Given the description of an element on the screen output the (x, y) to click on. 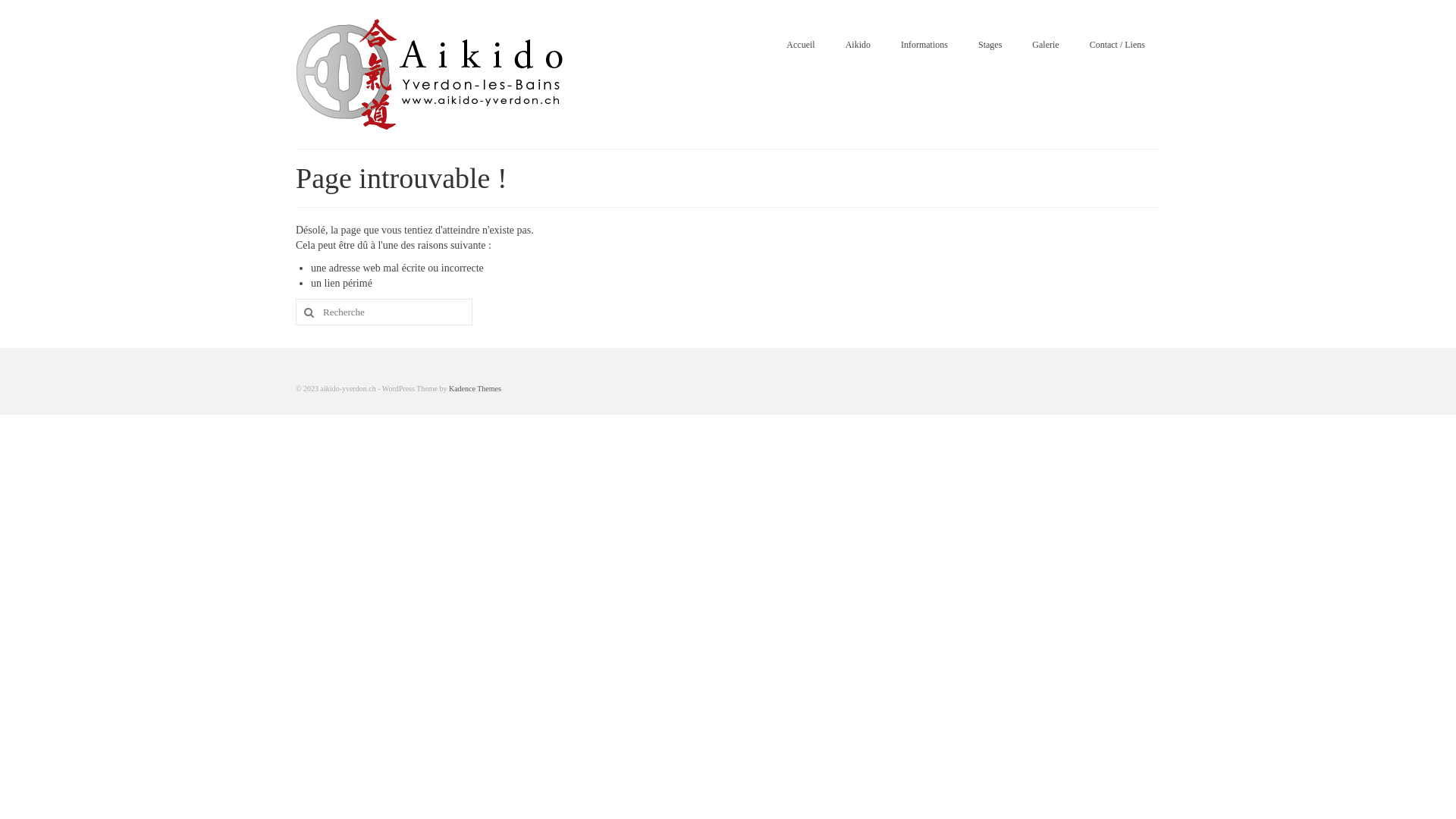
Galerie Element type: text (1044, 44)
Accueil Element type: text (800, 44)
Aikido Element type: text (857, 44)
Informations Element type: text (924, 44)
Stages Element type: text (989, 44)
Contact / Liens Element type: text (1117, 44)
Kadence Themes Element type: text (474, 388)
